Given the description of an element on the screen output the (x, y) to click on. 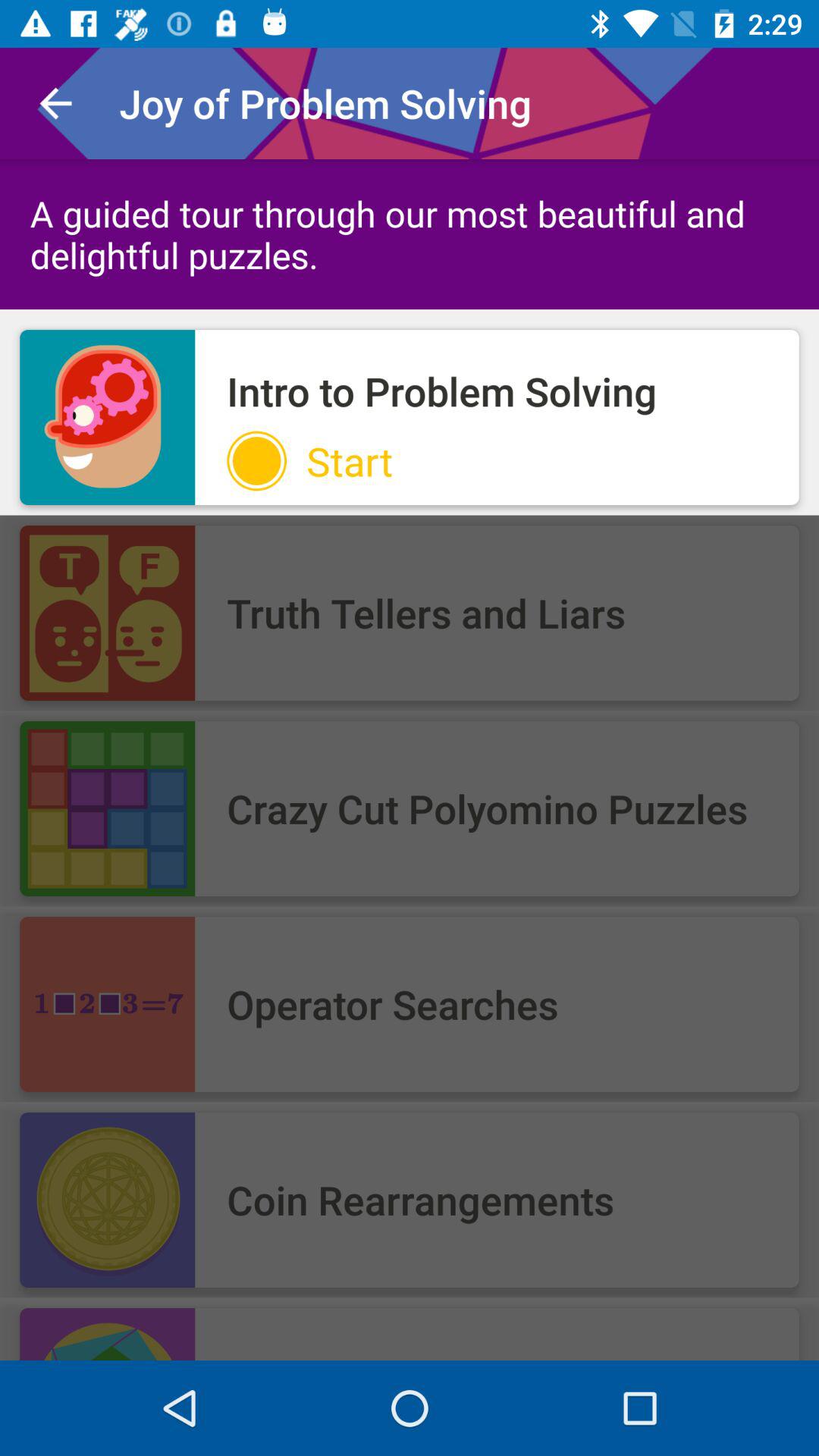
press item to the left of joy of problem icon (55, 103)
